Given the description of an element on the screen output the (x, y) to click on. 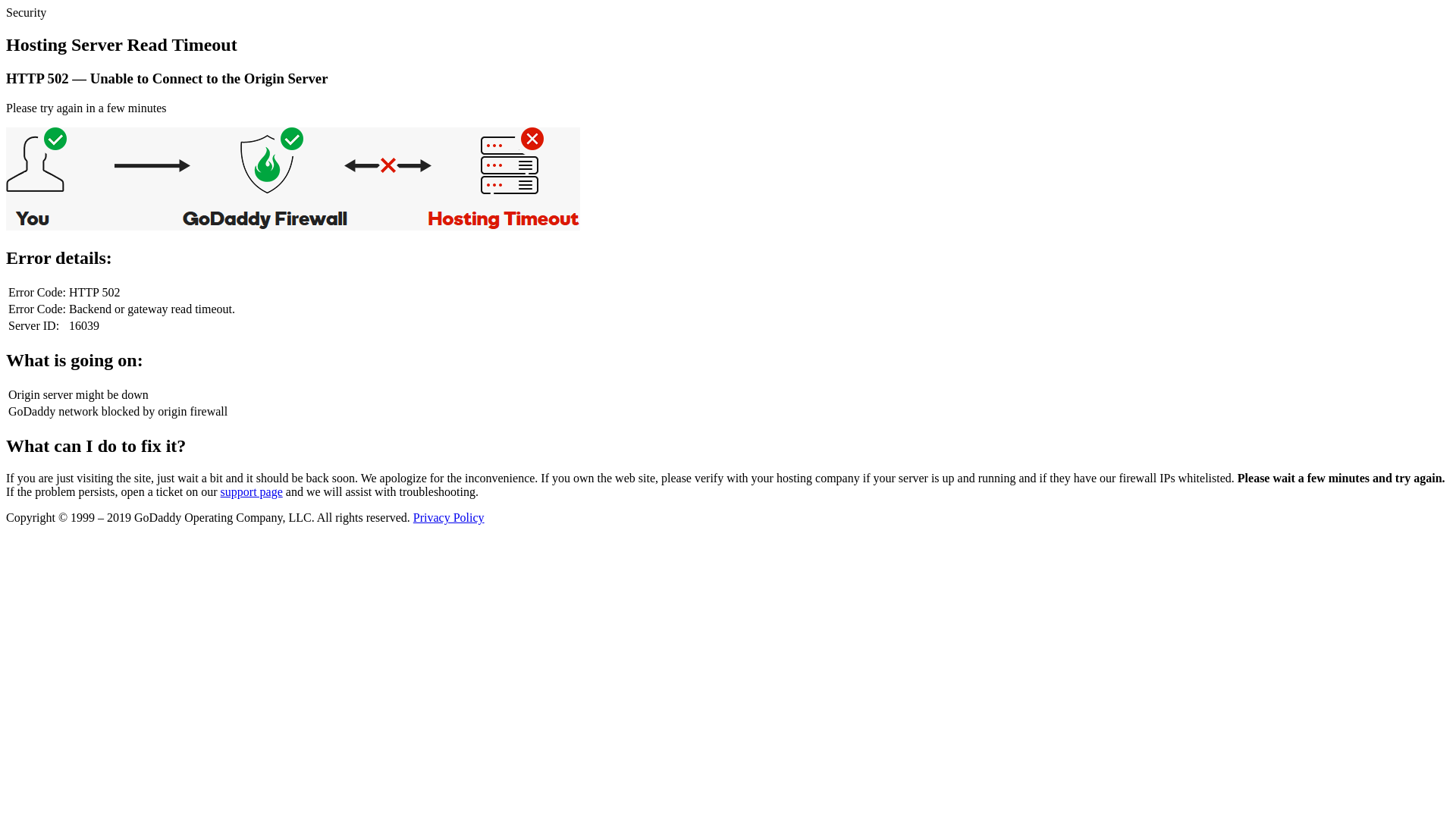
Privacy Policy Element type: text (448, 517)
support page Element type: text (251, 491)
